Given the description of an element on the screen output the (x, y) to click on. 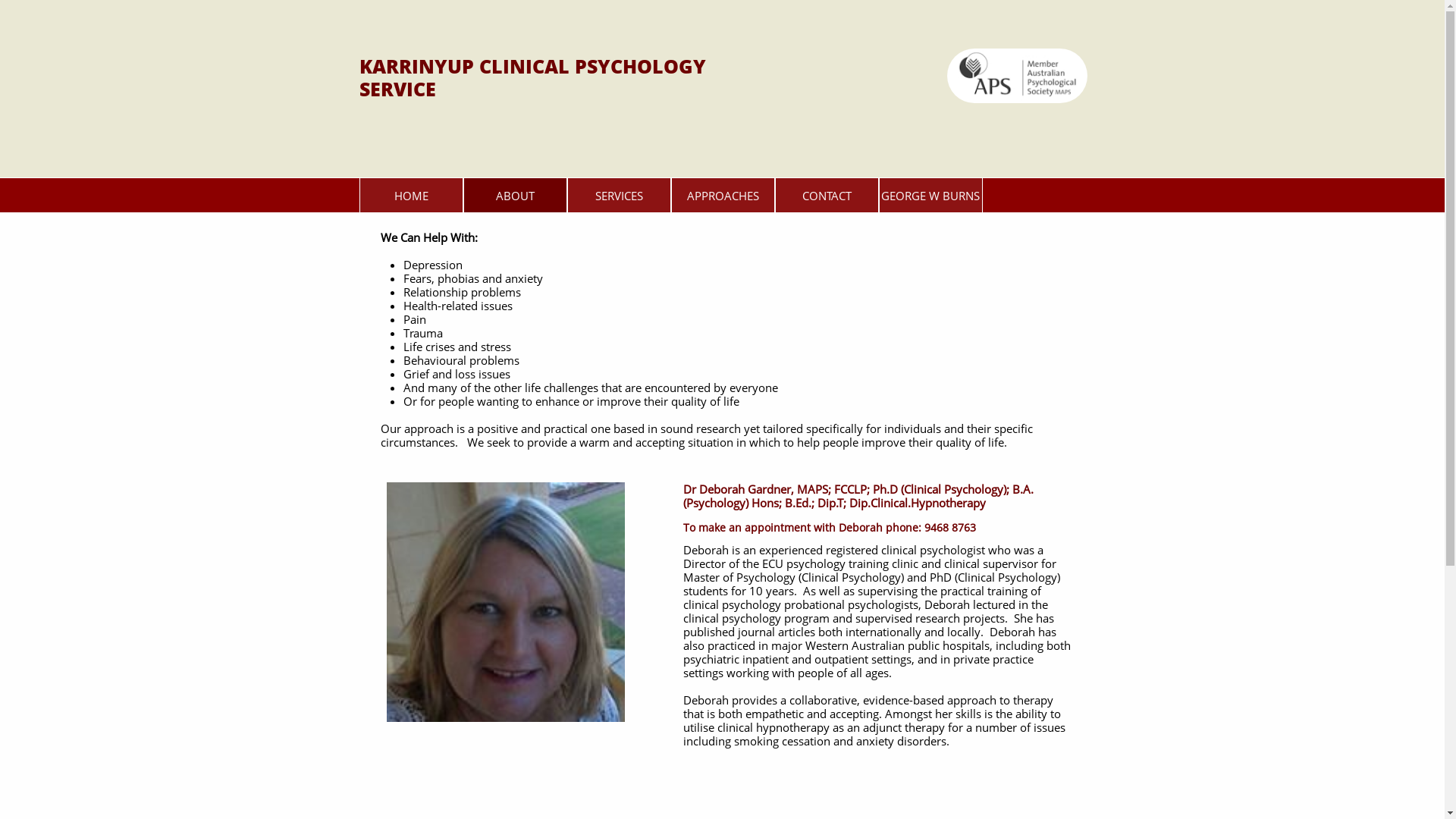
SERVICES Element type: text (619, 195)
CONTACT Element type: text (826, 195)
GEORGE W BURNS Element type: text (930, 195)
HOME Element type: text (411, 195)
ABOUT Element type: text (514, 195)
APPROACHES Element type: text (722, 195)
